Given the description of an element on the screen output the (x, y) to click on. 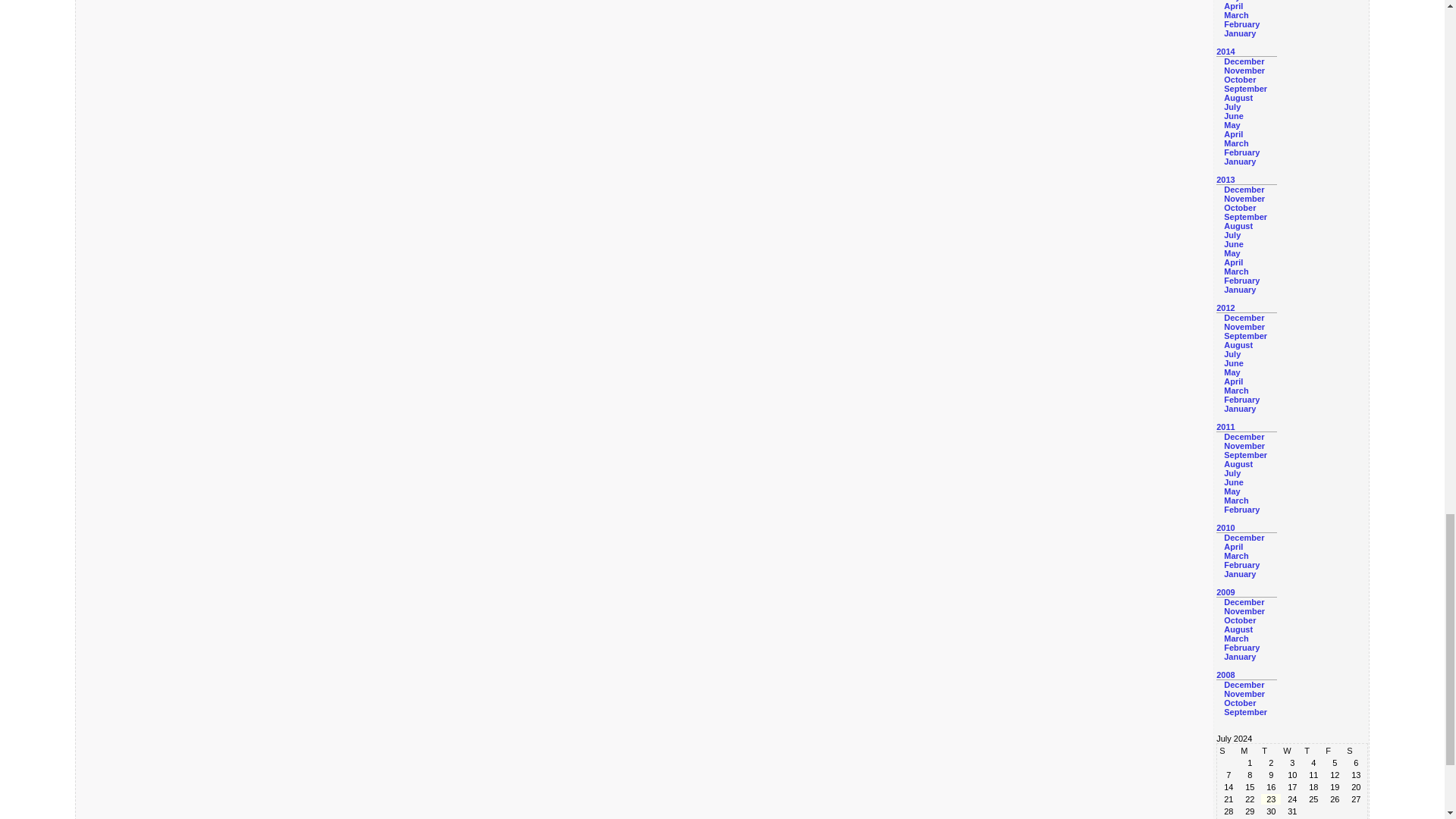
Tuesday (1270, 750)
Saturday (1355, 750)
Sunday (1228, 750)
Wednesday (1291, 750)
Monday (1249, 750)
Thursday (1313, 750)
Friday (1333, 750)
